Given the description of an element on the screen output the (x, y) to click on. 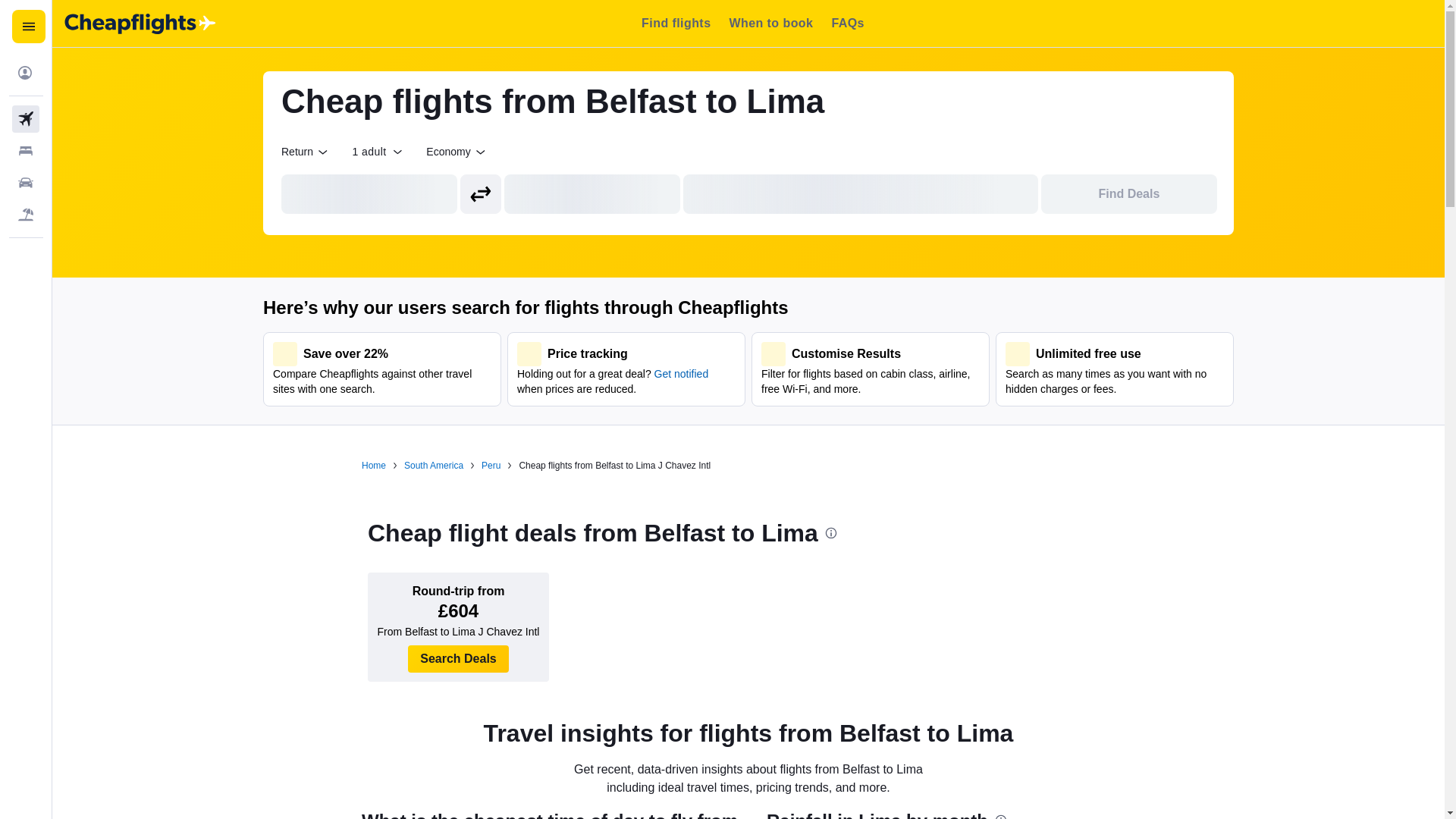
Find Deals (1129, 193)
Get notified (681, 373)
Search Deals (457, 658)
Peru (490, 465)
Find Deals (1129, 193)
Home (373, 465)
South America (433, 465)
